Given the description of an element on the screen output the (x, y) to click on. 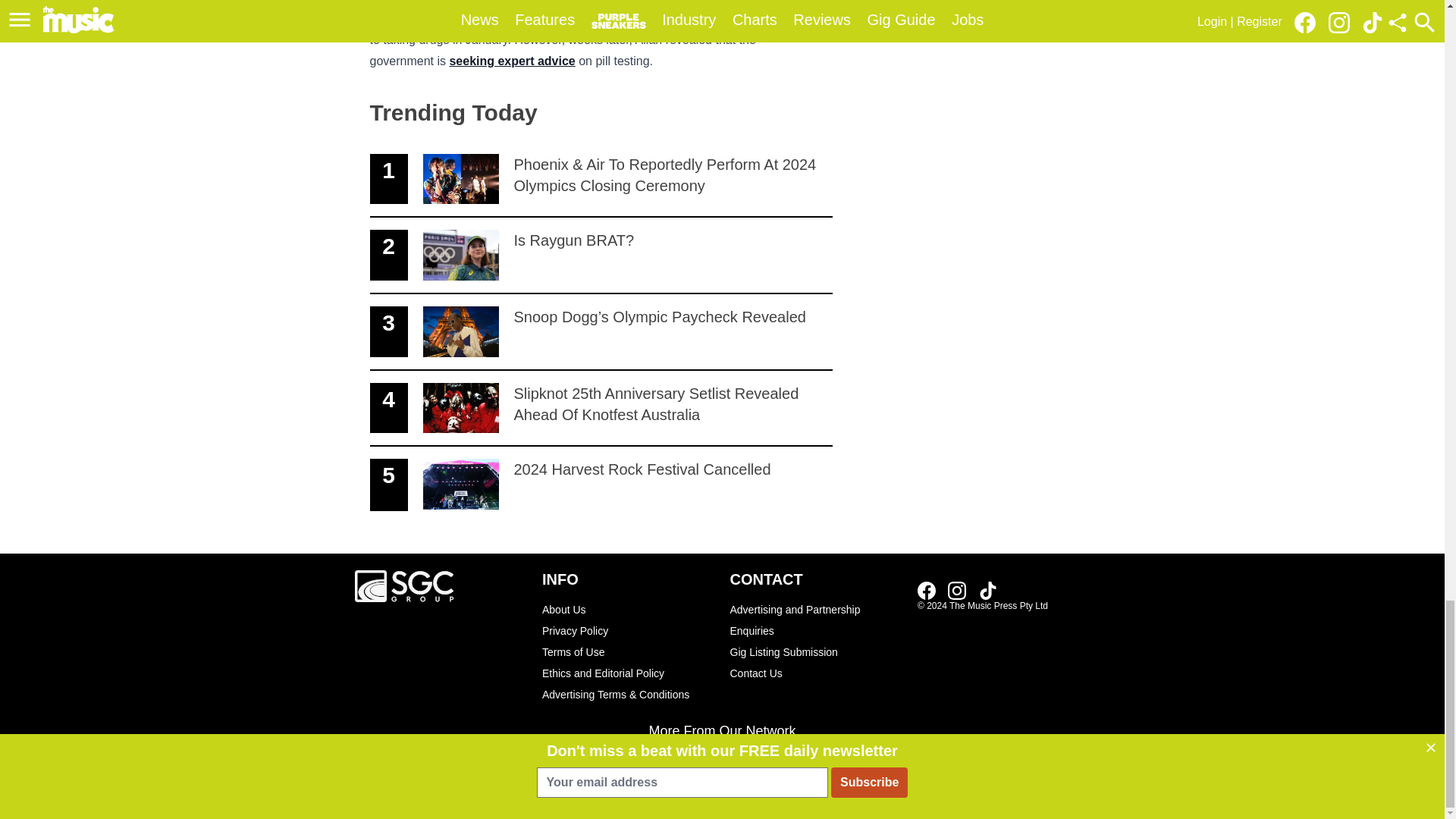
Privacy Policy (600, 255)
seeking expert advice (627, 630)
Terms of Use (600, 484)
Link to our Facebook (511, 60)
Link to our TikTok (627, 651)
About Us (926, 590)
Link to our Instagram (987, 590)
